Given the description of an element on the screen output the (x, y) to click on. 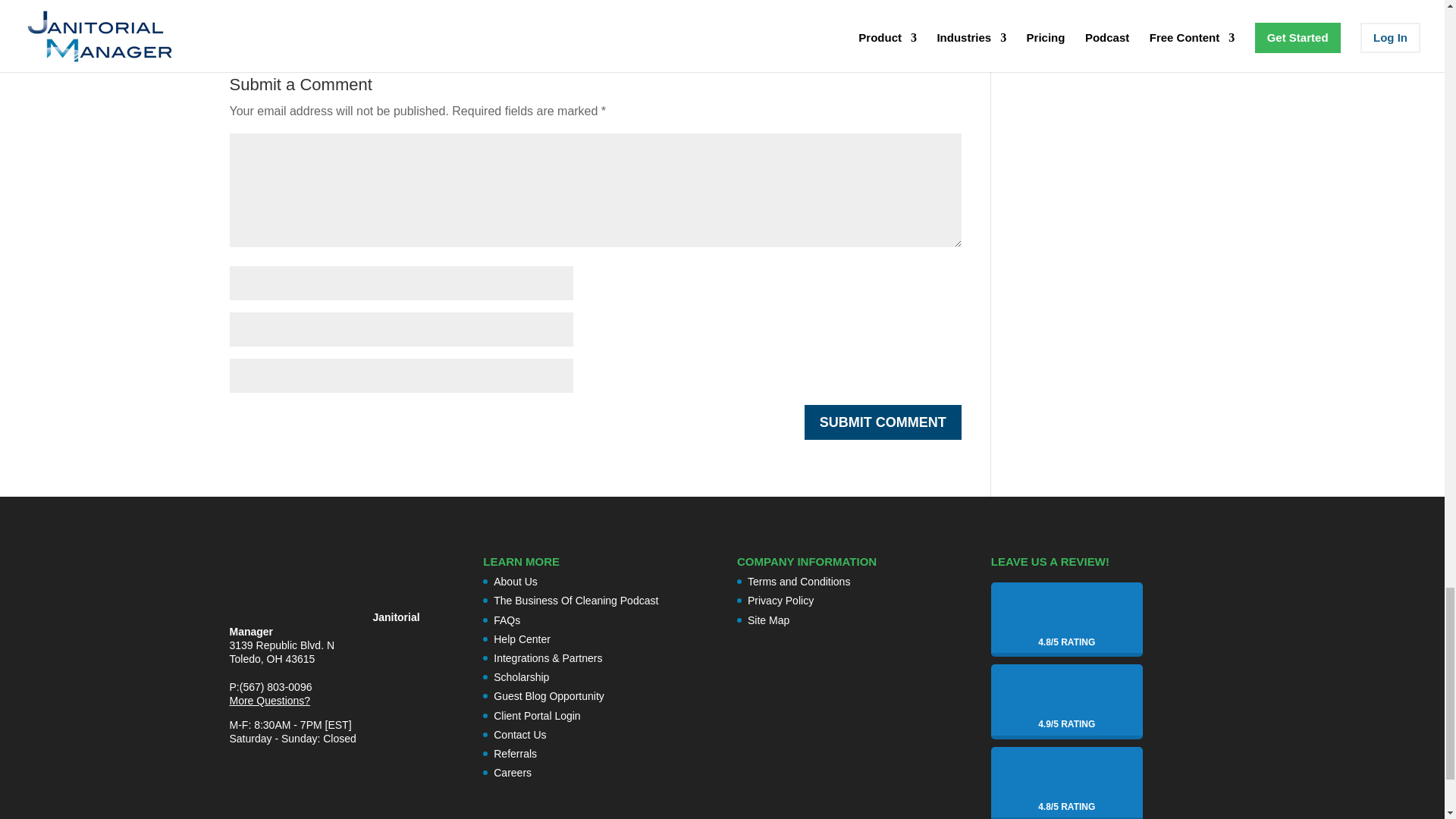
Submit Comment (882, 422)
